Given the description of an element on the screen output the (x, y) to click on. 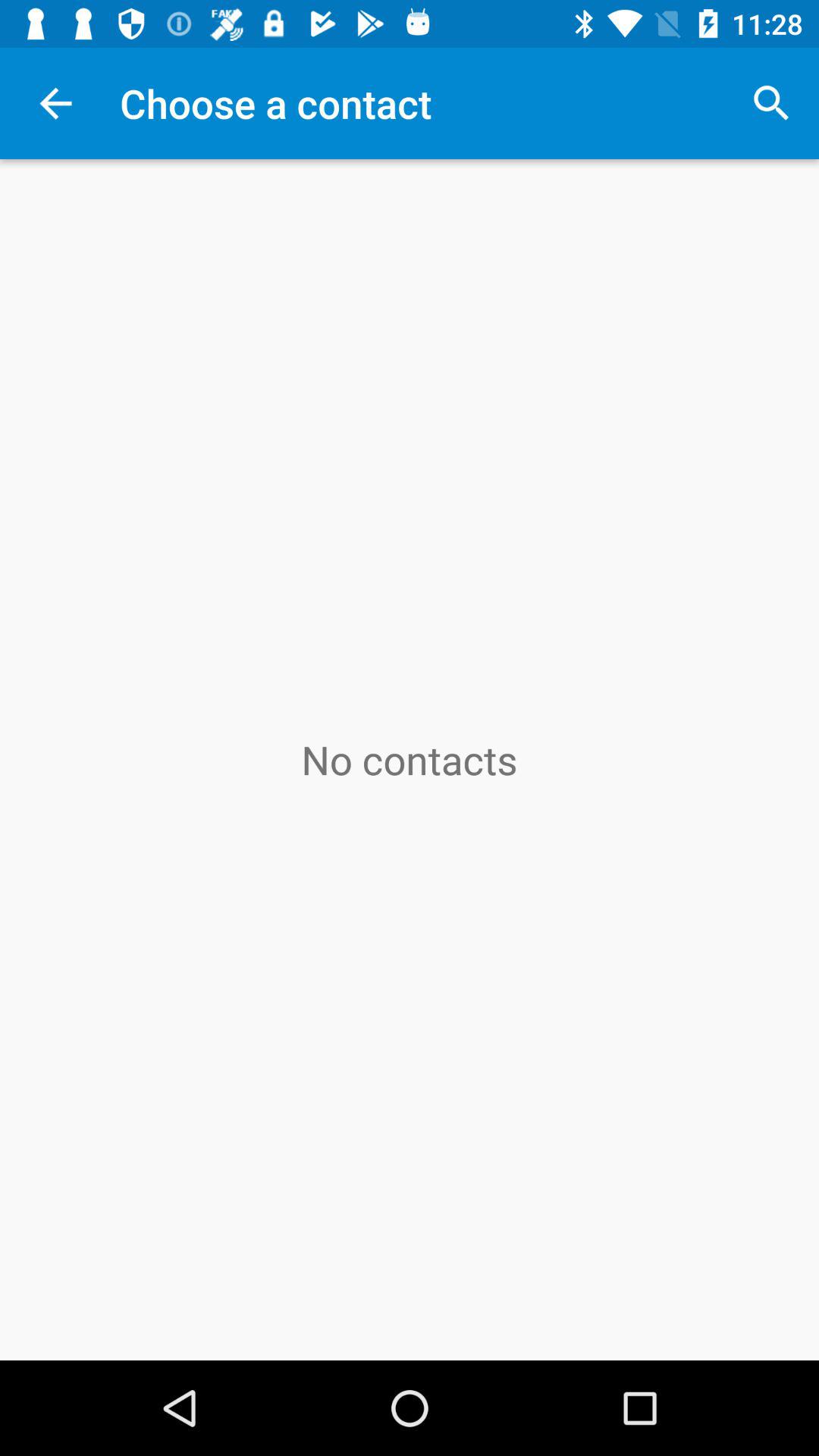
press the icon next to choose a contact item (771, 103)
